Given the description of an element on the screen output the (x, y) to click on. 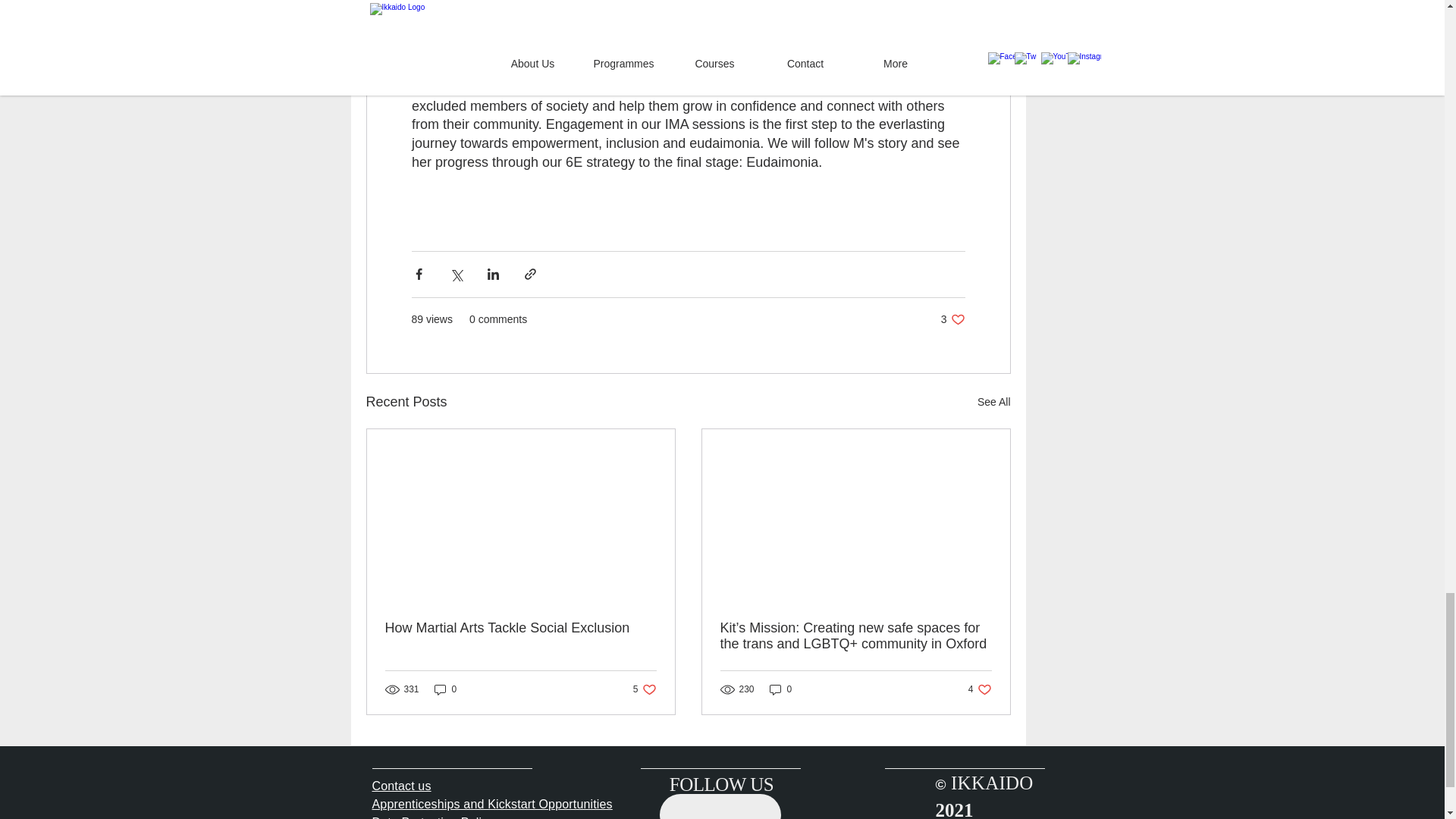
0 (952, 319)
How Martial Arts Tackle Social Exclusion (445, 689)
See All (520, 627)
